Given the description of an element on the screen output the (x, y) to click on. 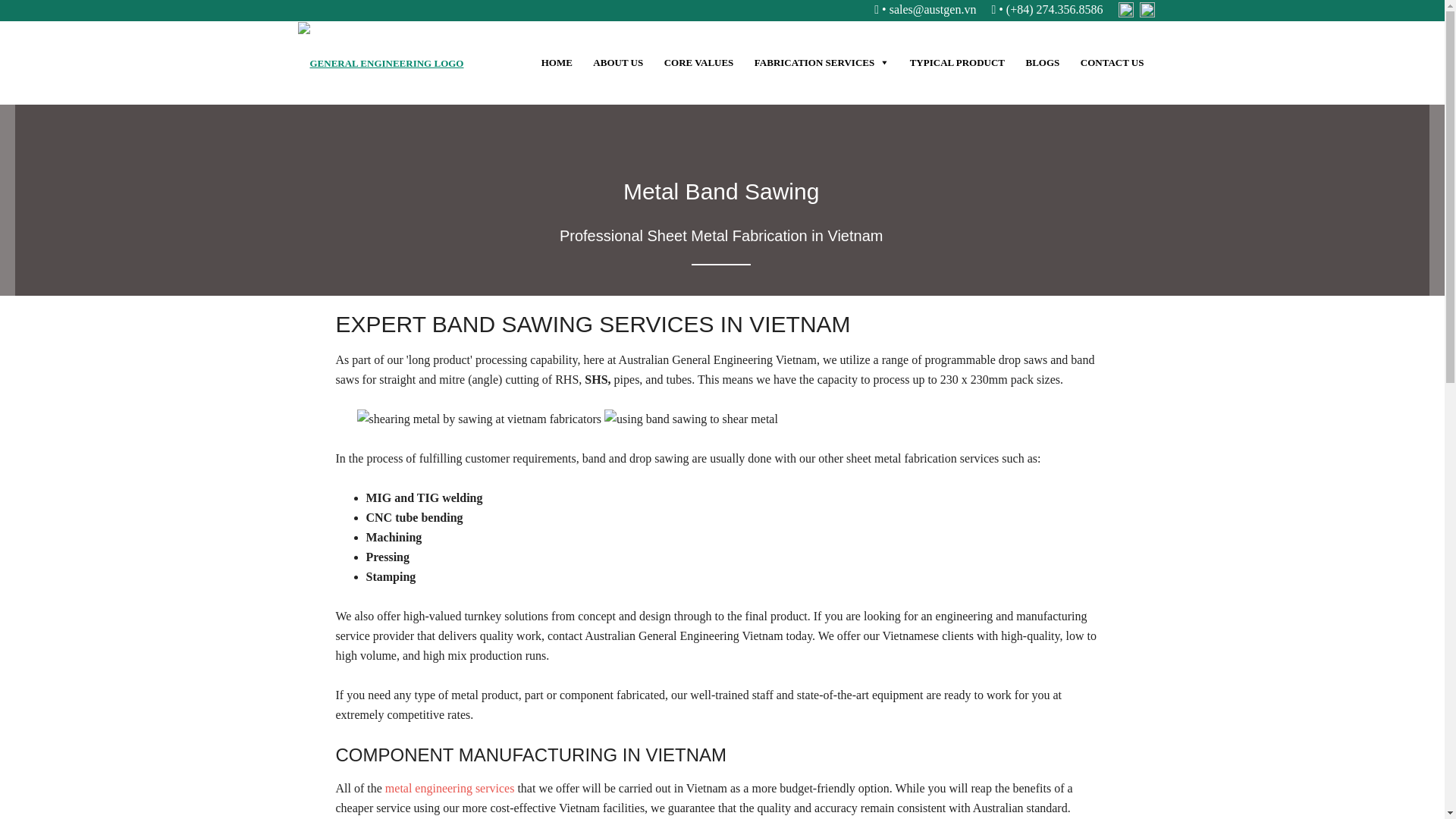
CORE VALUES (698, 62)
FABRICATION SERVICES (821, 62)
metal engineering services (450, 788)
TYPICAL PRODUCT (956, 62)
CONTACT US (1112, 62)
